Given the description of an element on the screen output the (x, y) to click on. 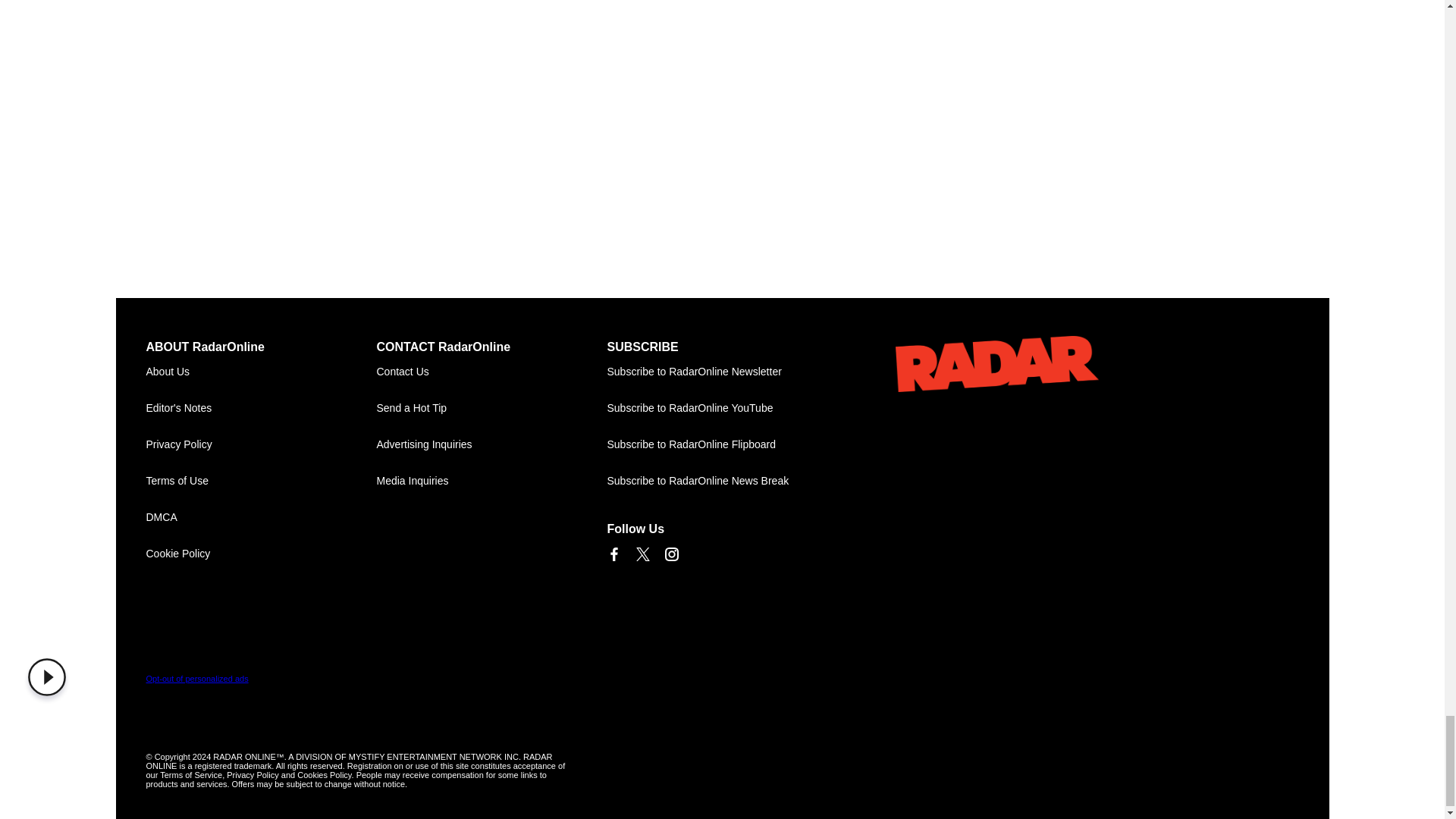
Link to Facebook (613, 554)
Link to Instagram (670, 554)
Link to X (641, 554)
Privacy Policy (260, 444)
Terms of Use (260, 481)
Editor's Notes (260, 408)
Cookie Policy (260, 554)
About Us (260, 371)
DMCA (260, 517)
